Given the description of an element on the screen output the (x, y) to click on. 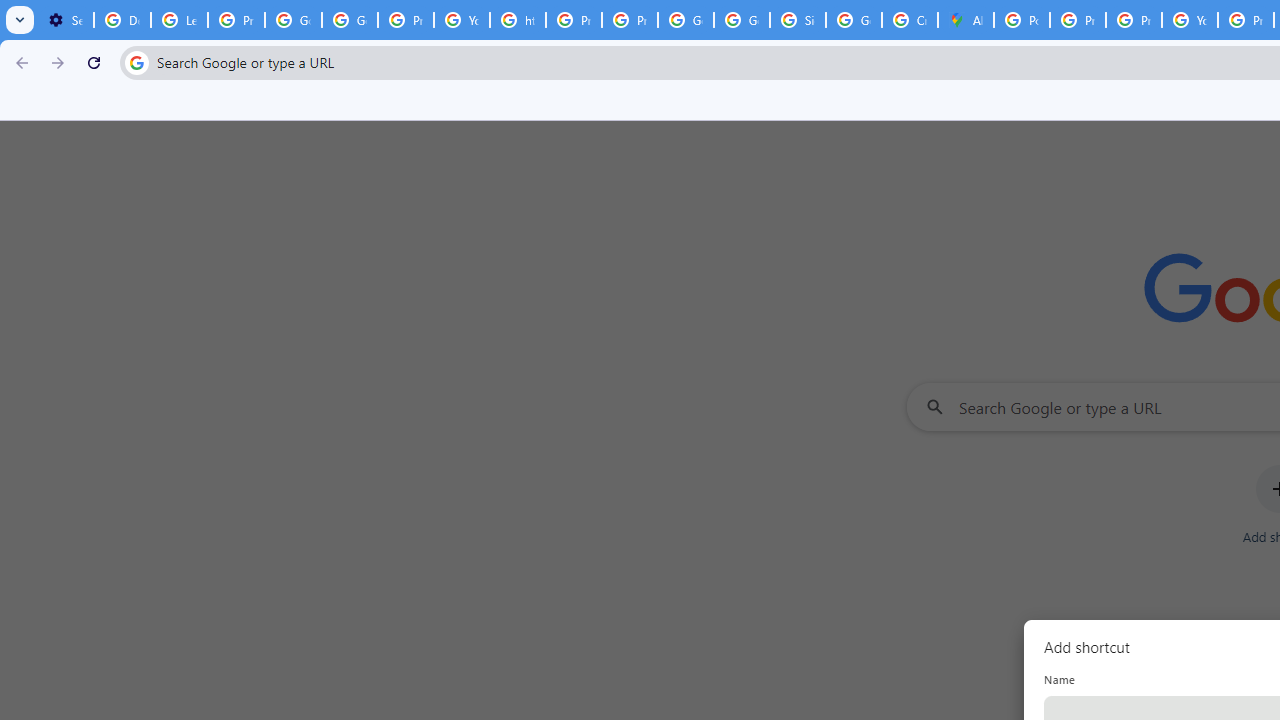
Create your Google Account (909, 20)
Google Account Help (349, 20)
Privacy Help Center - Policies Help (1133, 20)
YouTube (461, 20)
YouTube (1190, 20)
